Given the description of an element on the screen output the (x, y) to click on. 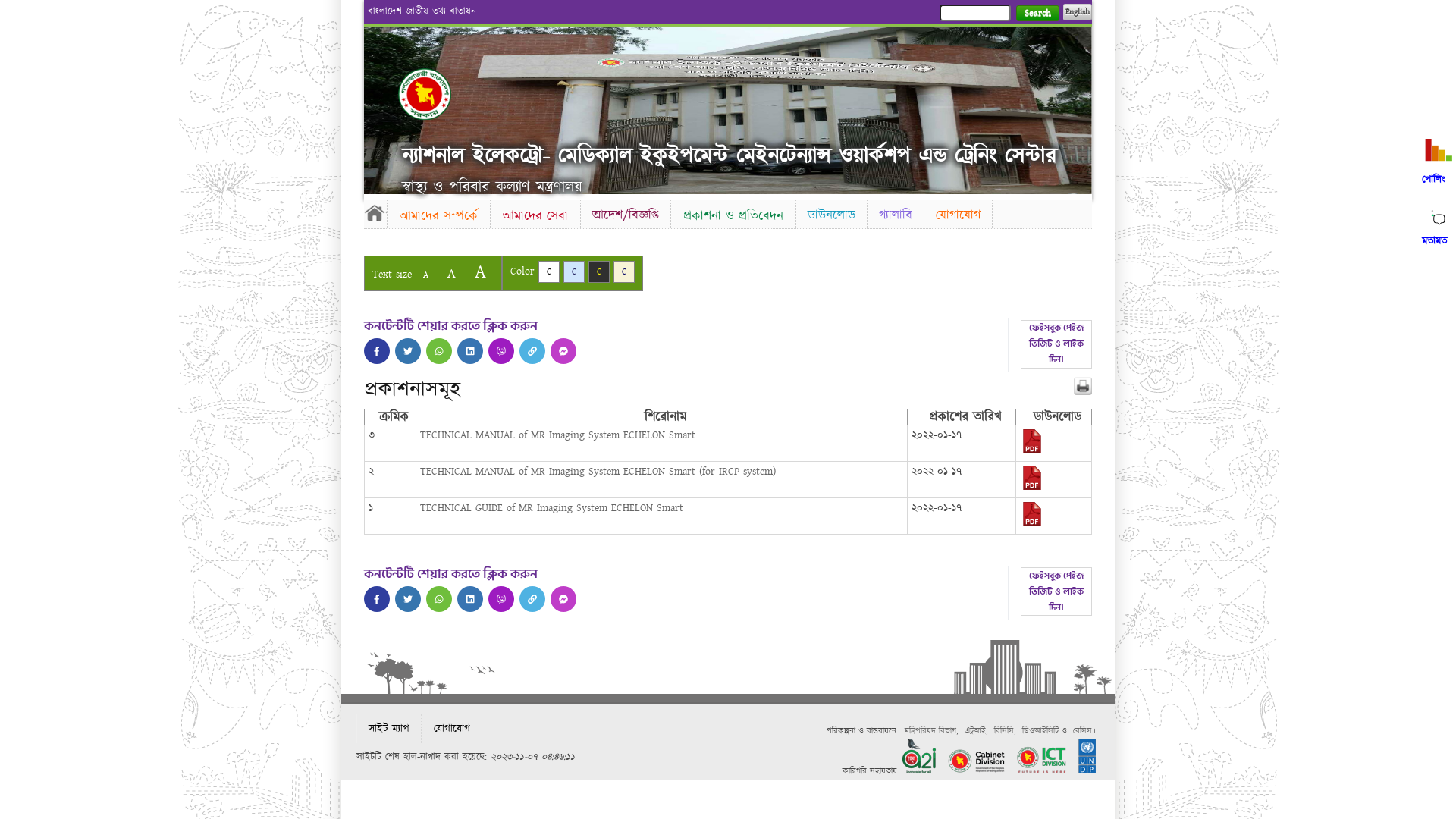
A Element type: text (451, 273)
TECHNICAL GUIDE of MR Imaging System ECHELON Smart Element type: text (551, 507)
A Element type: text (425, 274)
English Element type: text (1077, 11)
TECHNICAL MANUAL of MR Imaging System ECHELON Smart Element type: text (557, 434)
C Element type: text (548, 271)
A Element type: text (480, 271)
C Element type: text (573, 271)
2022-01-17-09-25-713f9152548c92895d8803994b82dd1f.pdf Element type: hover (1031, 522)
Search Element type: text (1037, 13)
Home Element type: hover (424, 93)
2022-01-17-09-18-69b51d22023853c35d6dacde2a34aacc.pdf Element type: hover (1031, 450)
C Element type: text (598, 271)
C Element type: text (623, 271)
2022-01-11-05-57-431c2e1a87e0f48a99bfdf39ccd3355b.pdf Element type: hover (1031, 486)
Home Element type: hover (375, 211)
